Given the description of an element on the screen output the (x, y) to click on. 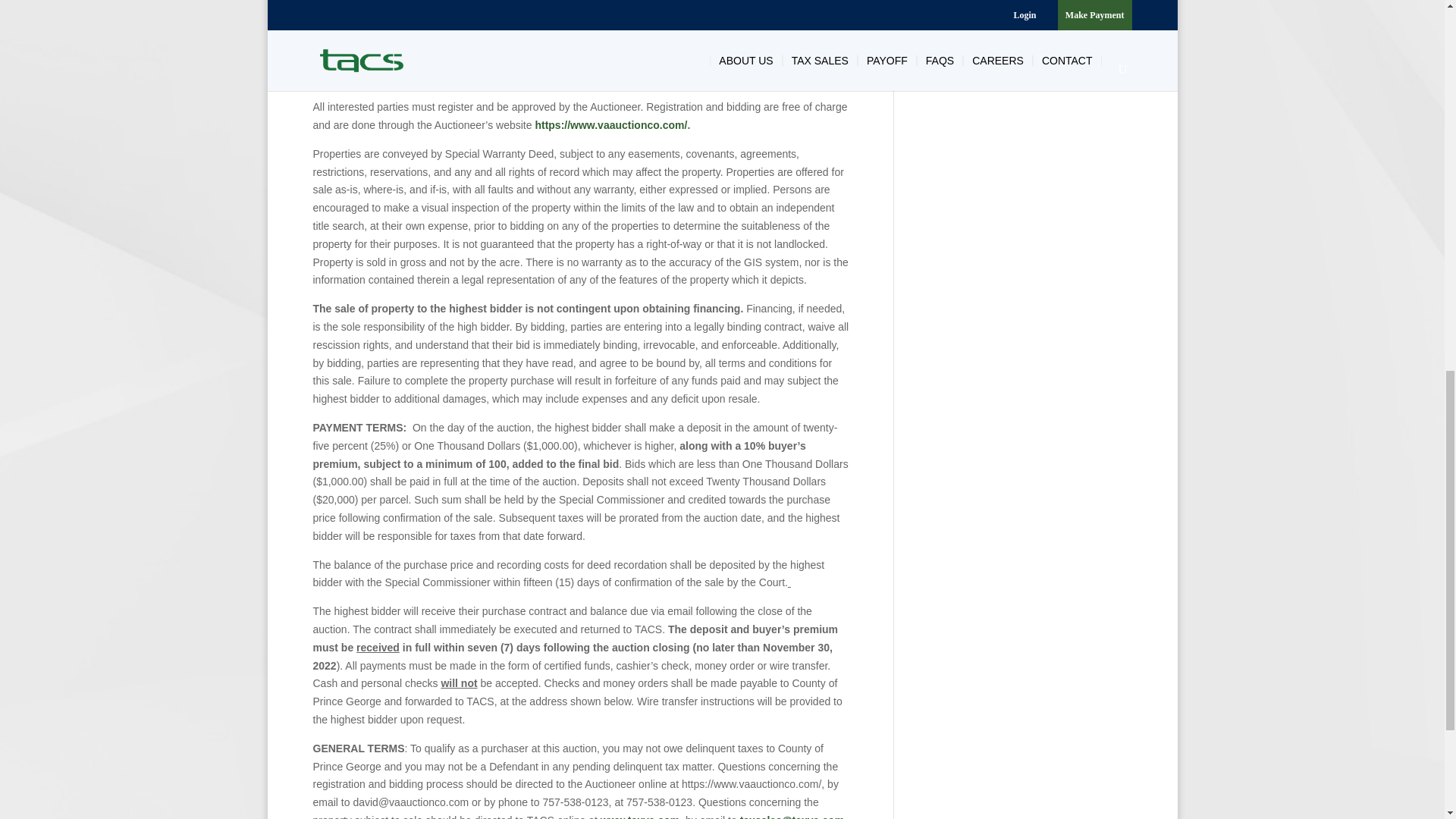
www.taxva.com (639, 816)
